Given the description of an element on the screen output the (x, y) to click on. 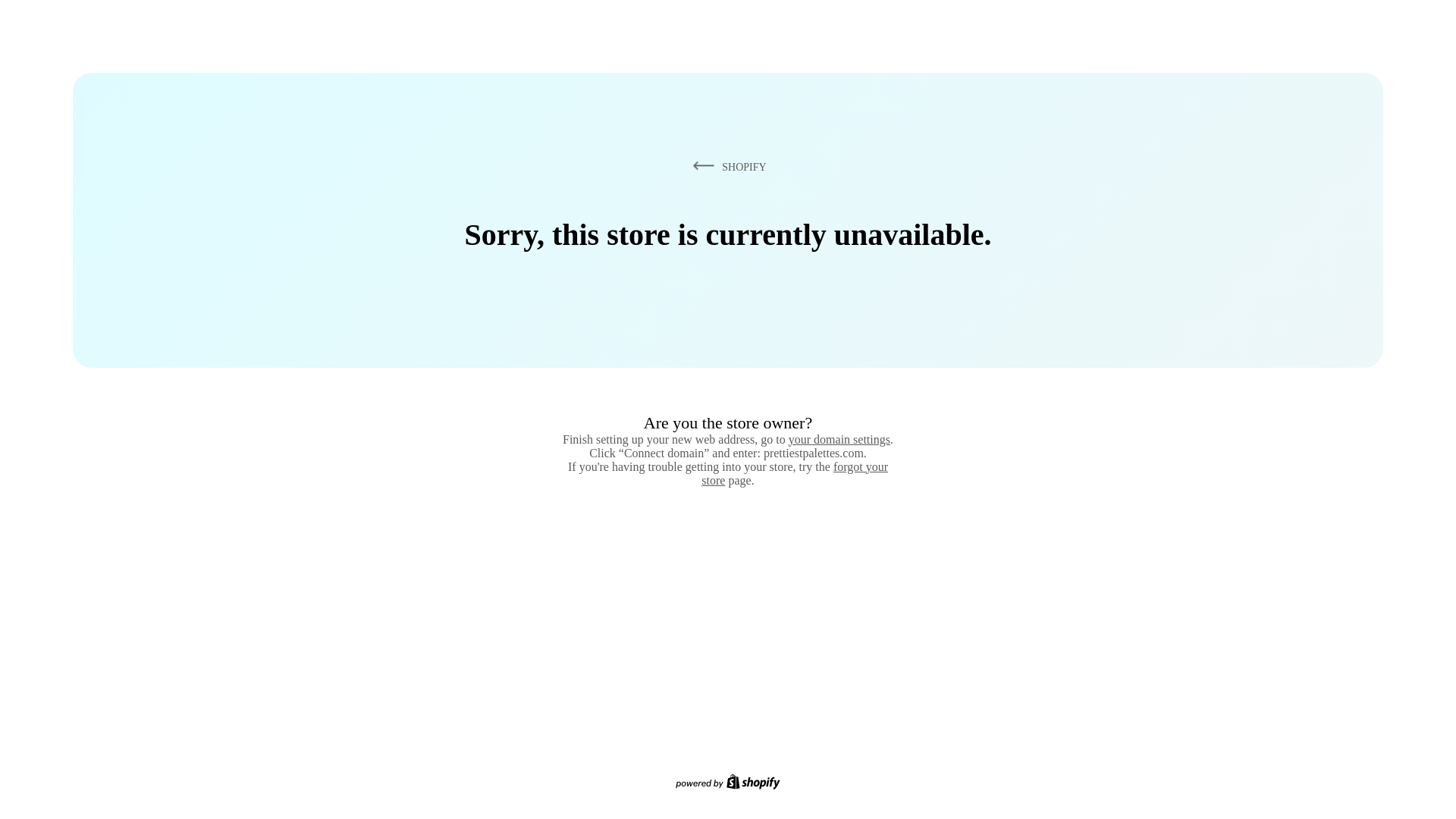
forgot your store (794, 473)
your domain settings (839, 439)
SHOPIFY (726, 166)
